Given the description of an element on the screen output the (x, y) to click on. 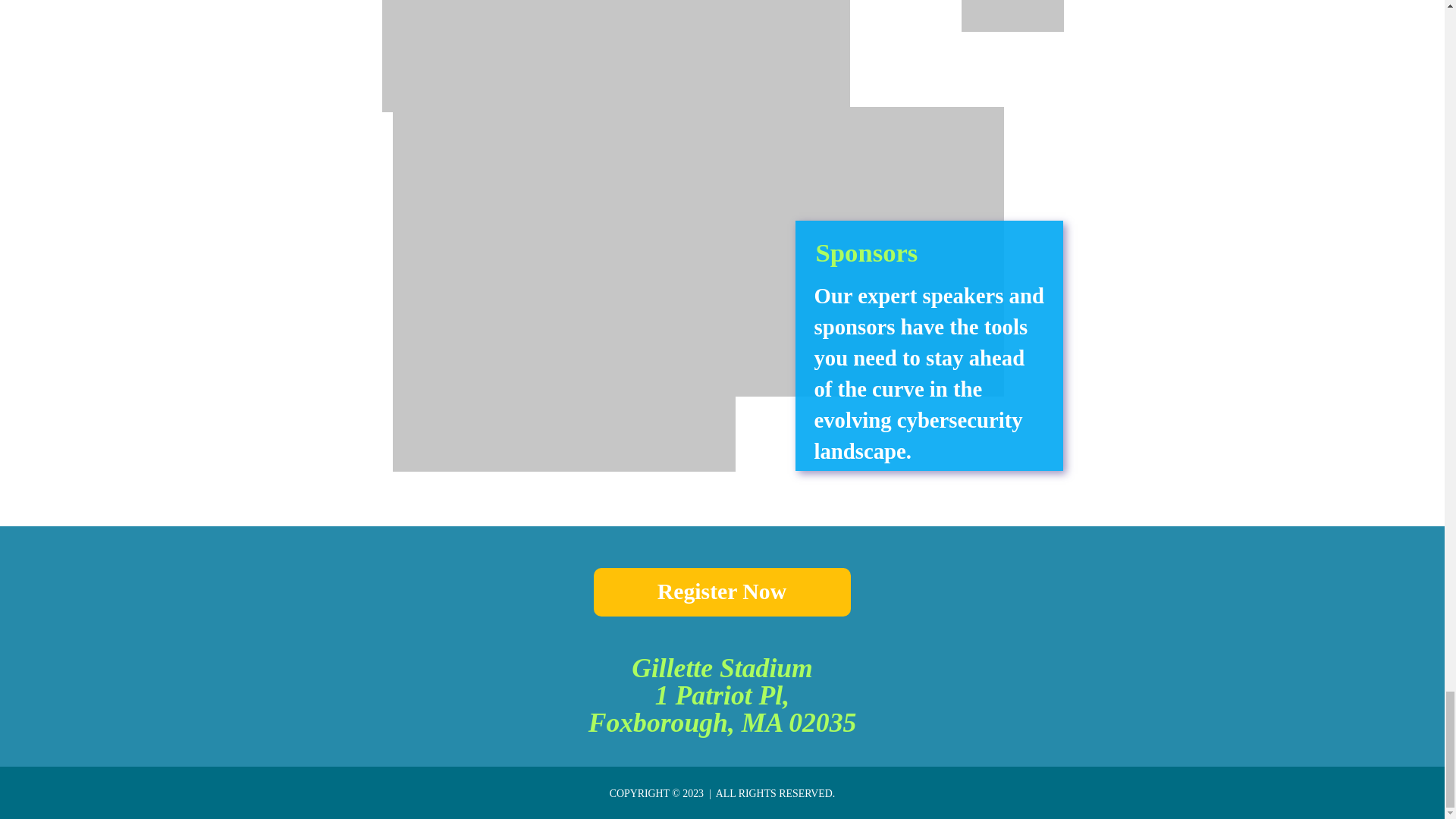
Register Now (721, 592)
